Given the description of an element on the screen output the (x, y) to click on. 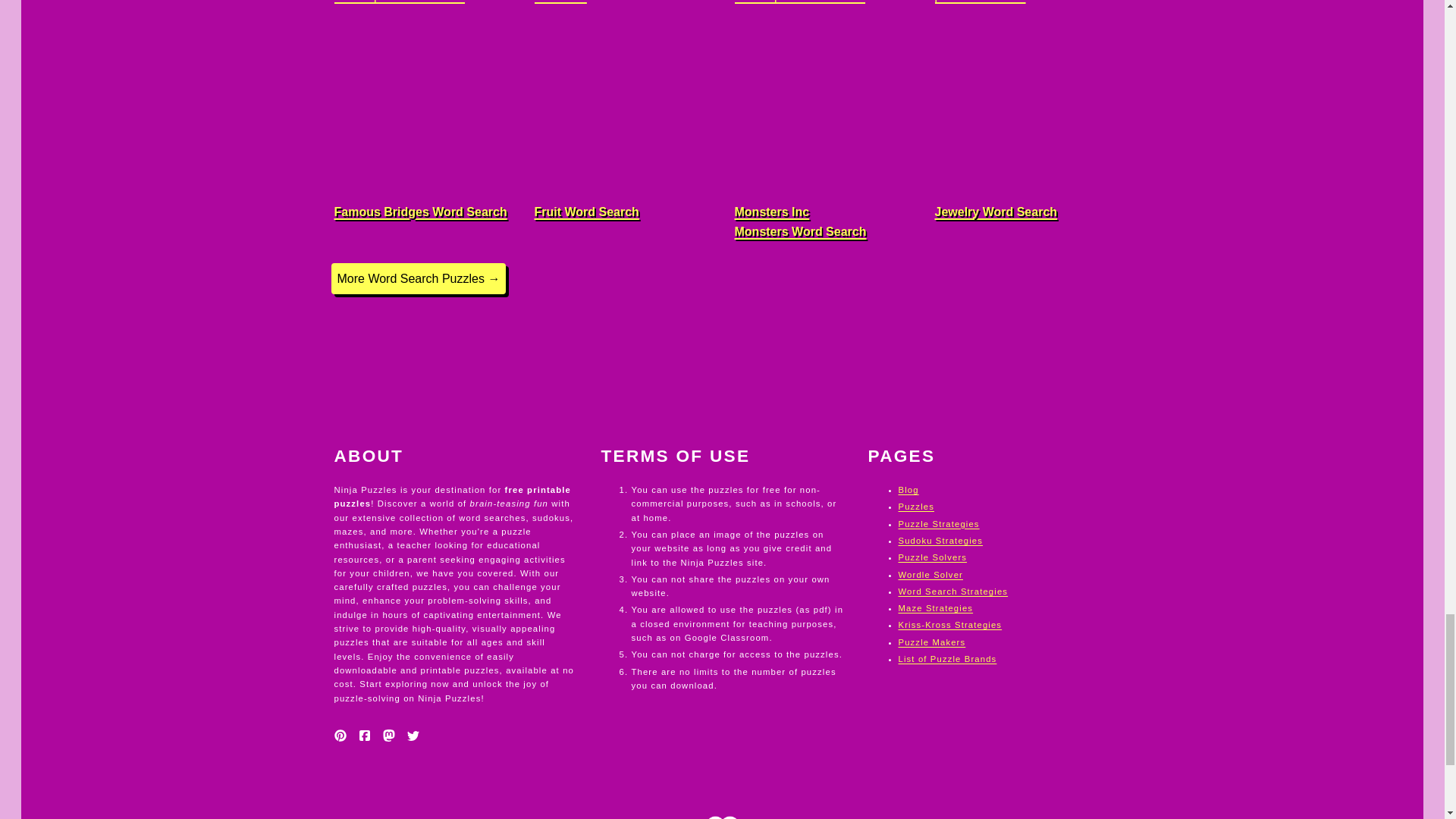
Follow on Pinterest (339, 735)
